Given the description of an element on the screen output the (x, y) to click on. 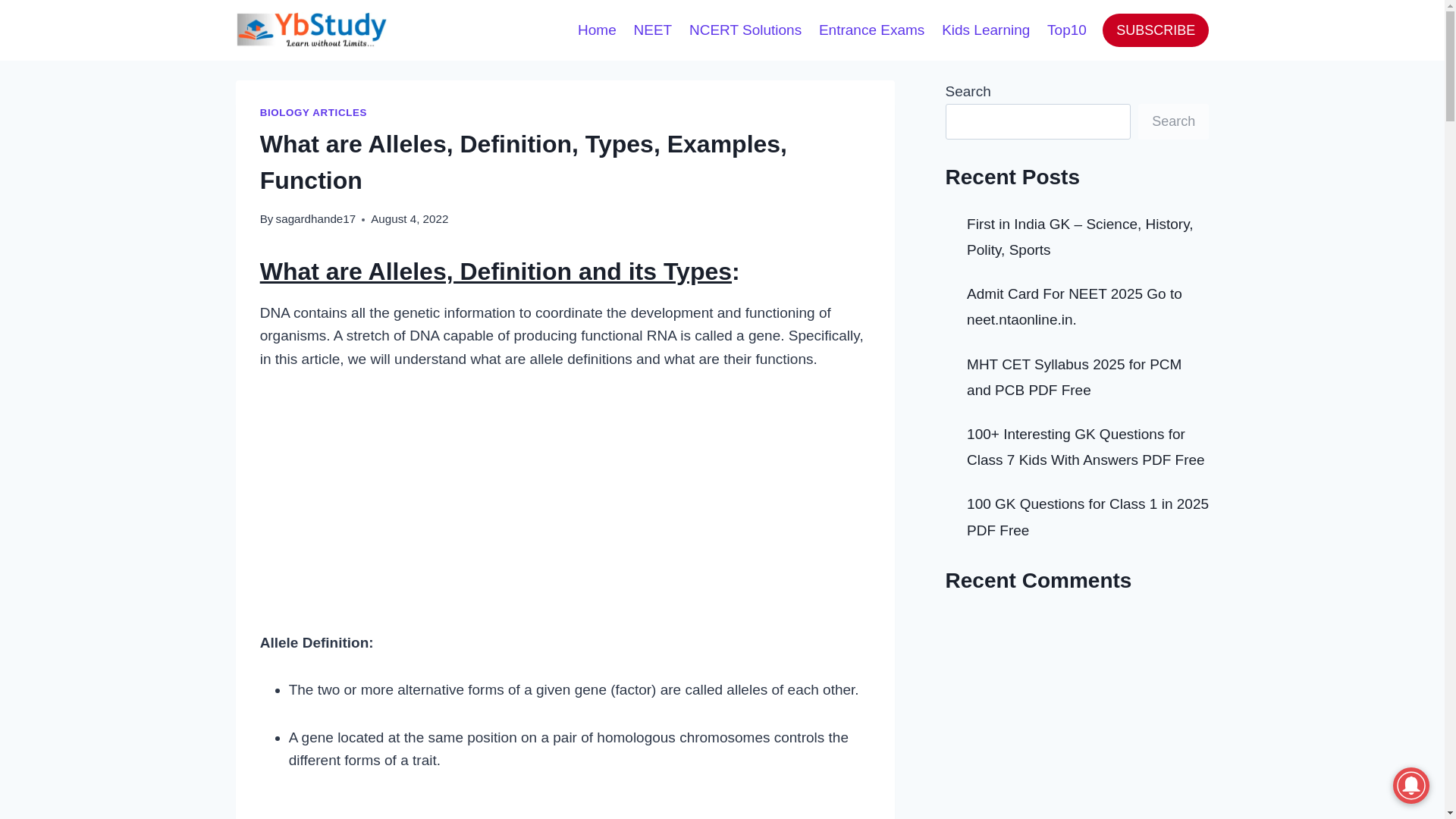
SUBSCRIBE (1155, 29)
Advertisement (565, 807)
Advertisement (565, 500)
NEET (651, 29)
Home (596, 29)
Kids Learning (986, 29)
BIOLOGY ARTICLES (313, 112)
Top10 (1067, 29)
sagardhande17 (316, 218)
NCERT Solutions (745, 29)
Entrance Exams (871, 29)
